Given the description of an element on the screen output the (x, y) to click on. 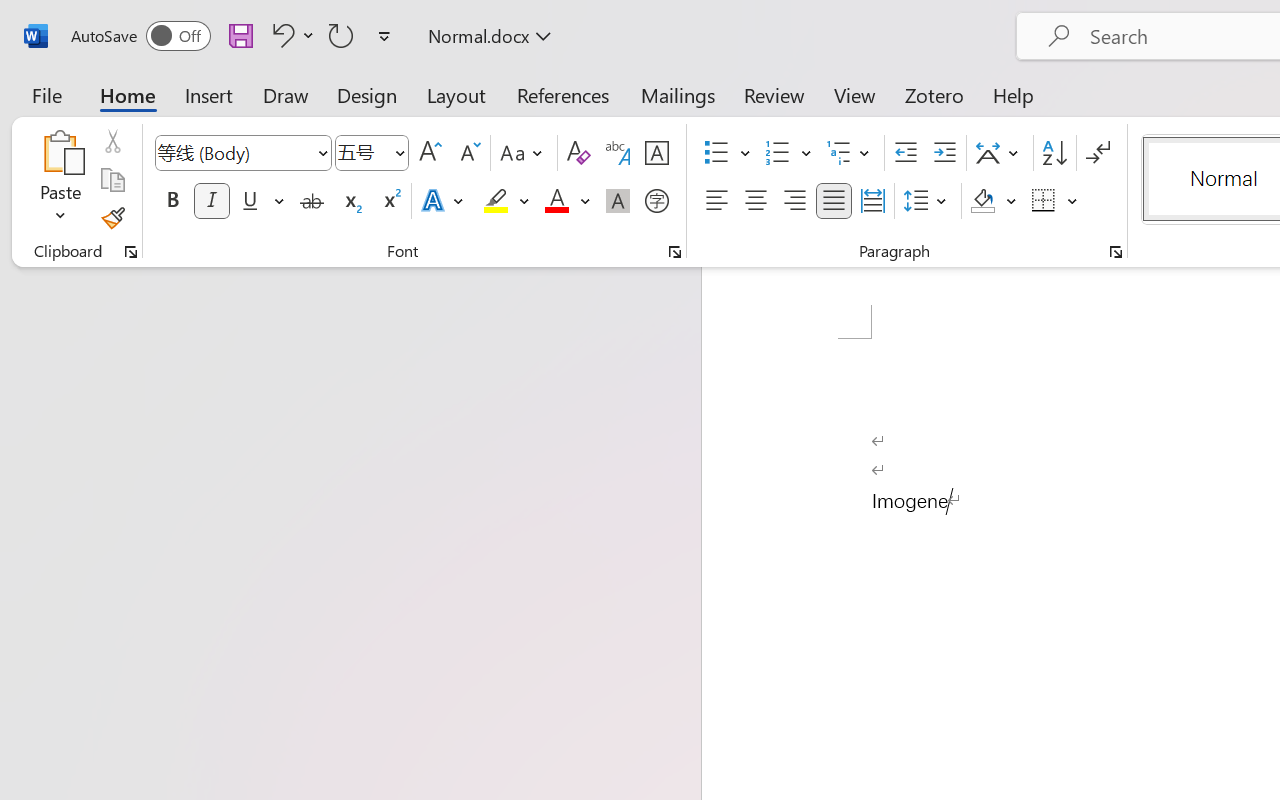
Font Color RGB(255, 0, 0) (556, 201)
Show/Hide Editing Marks (1098, 153)
Center (756, 201)
Open (399, 152)
Italic (212, 201)
Bold (172, 201)
Character Border (656, 153)
Character Shading (618, 201)
Justify (834, 201)
Cut (112, 141)
